Given the description of an element on the screen output the (x, y) to click on. 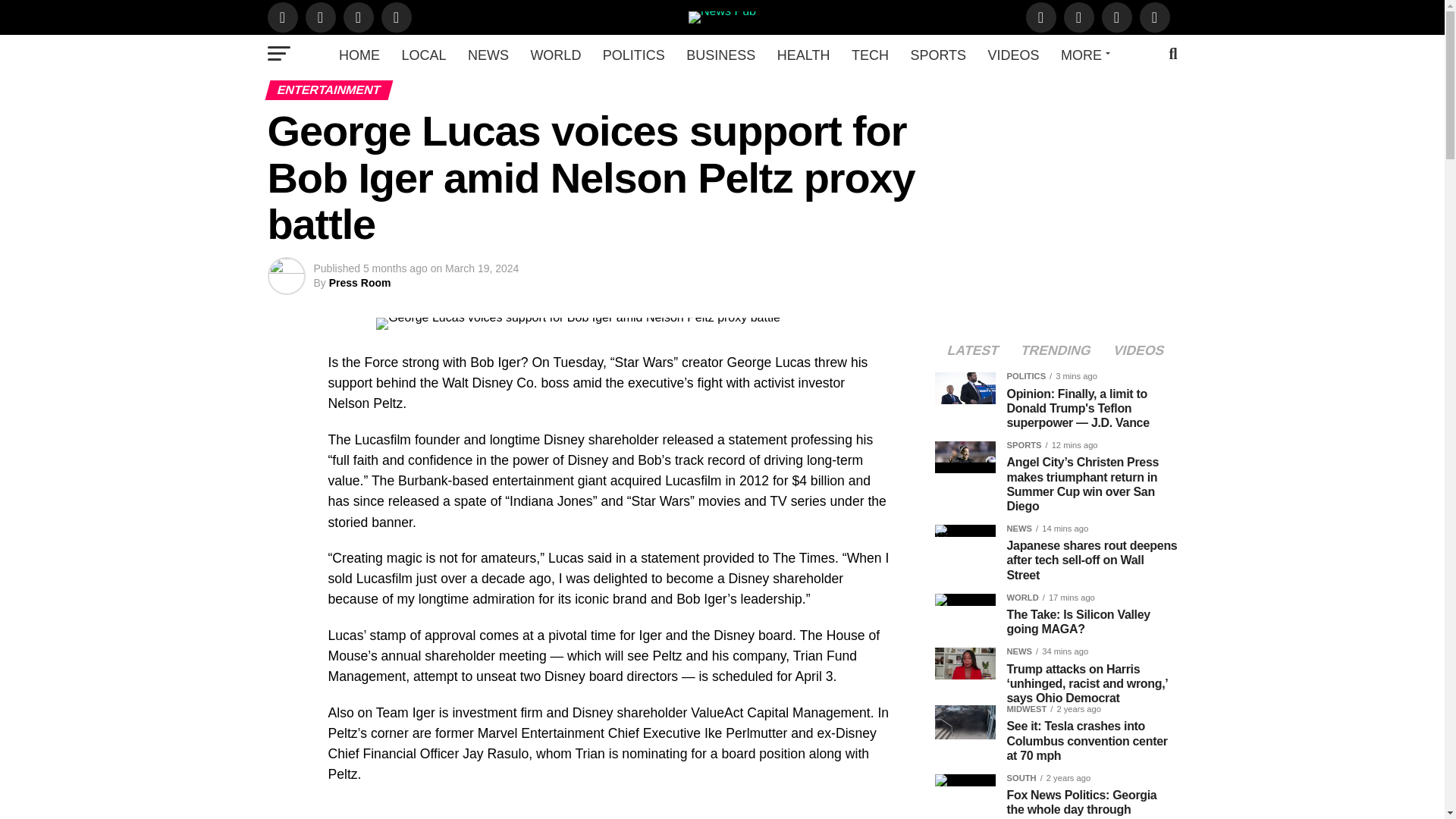
LOCAL (422, 55)
HOME (359, 55)
NEWS (488, 55)
